Given the description of an element on the screen output the (x, y) to click on. 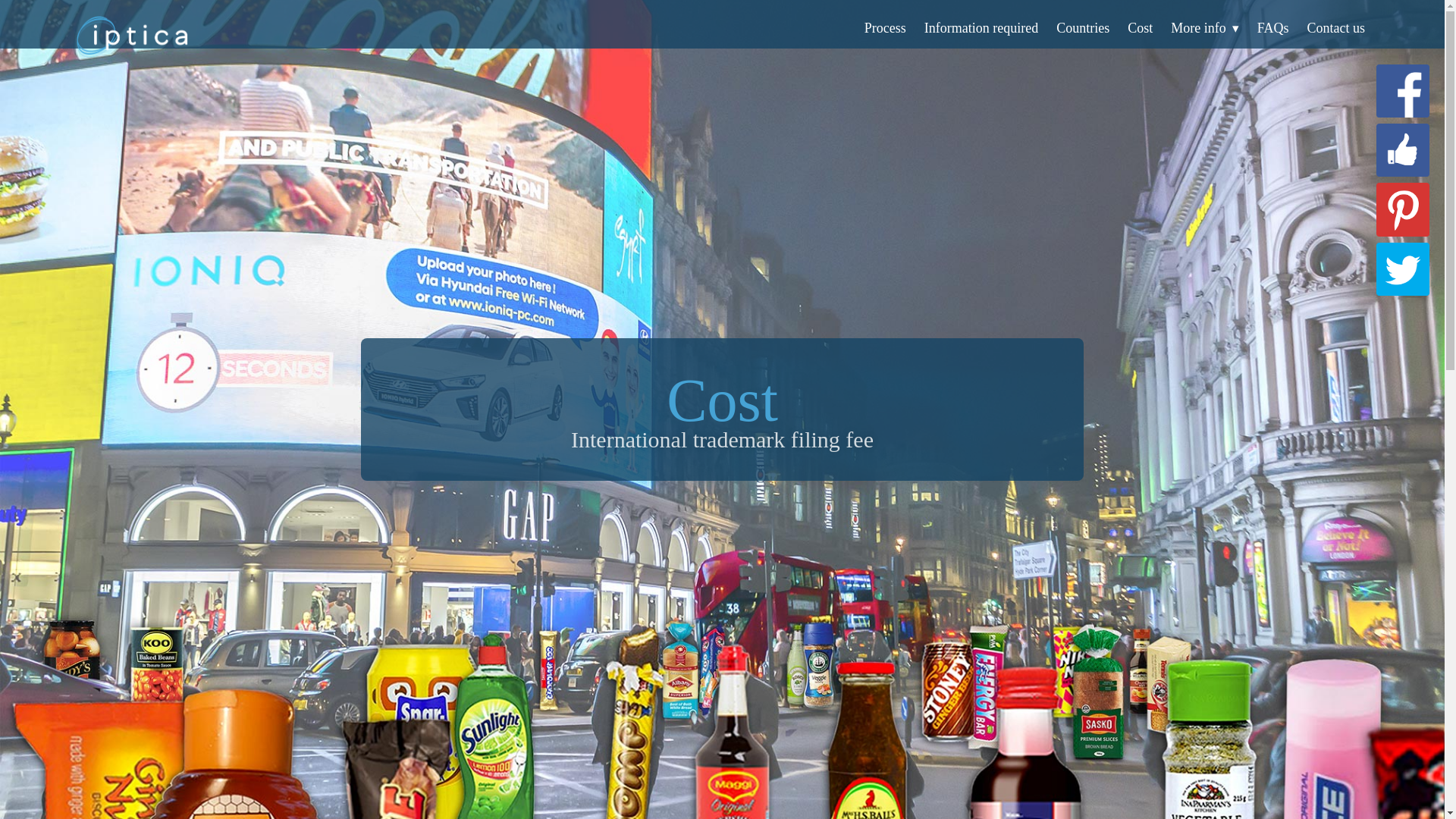
Countries (1083, 28)
Contact us (1336, 28)
Cost (1139, 28)
FAQs (1272, 28)
Information required (981, 28)
Process (884, 28)
